Given the description of an element on the screen output the (x, y) to click on. 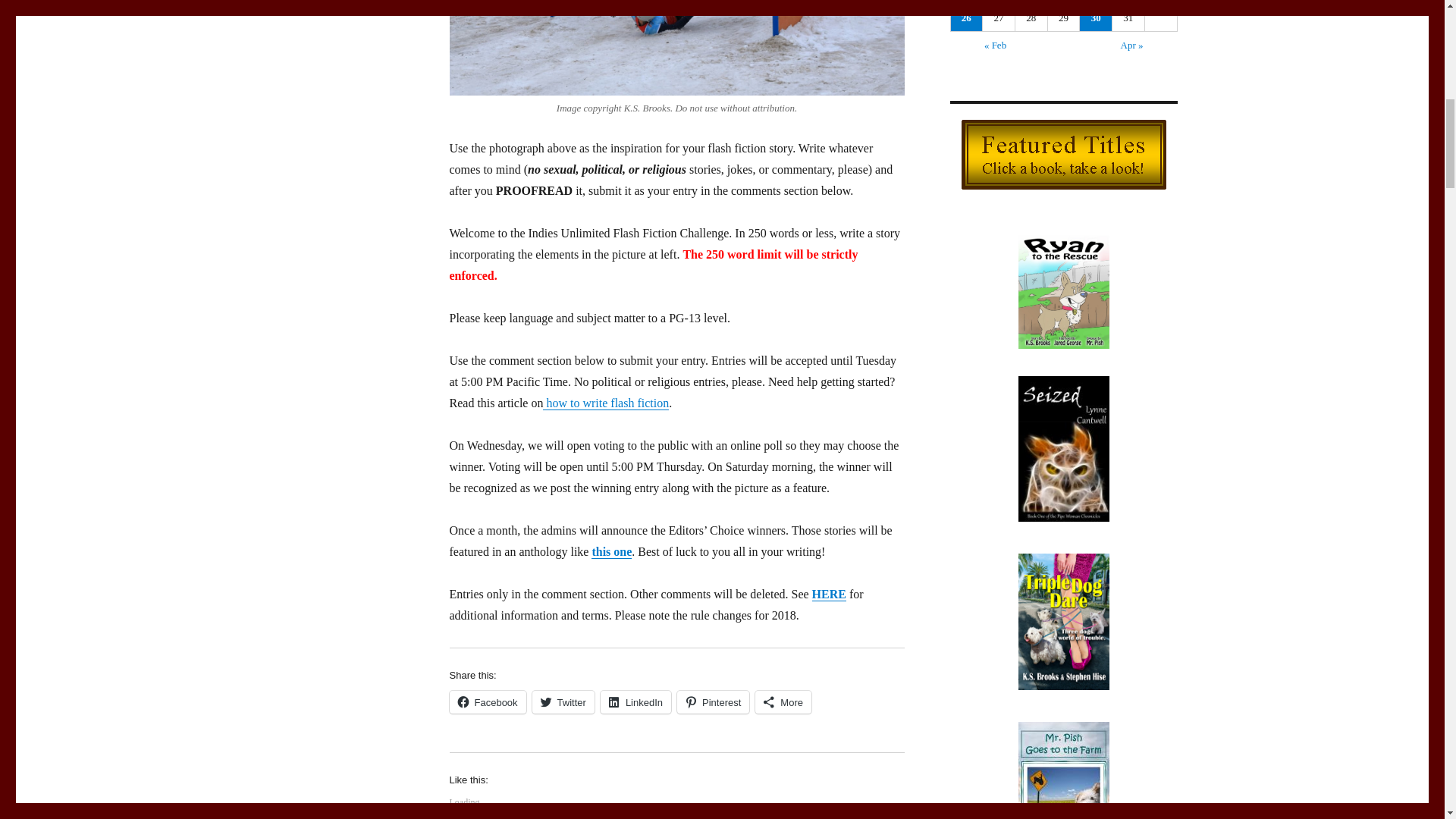
Click to share on Facebook (486, 702)
Click to share on Twitter (563, 702)
Click to share on Pinterest (713, 702)
Click to share on LinkedIn (635, 702)
